Given the description of an element on the screen output the (x, y) to click on. 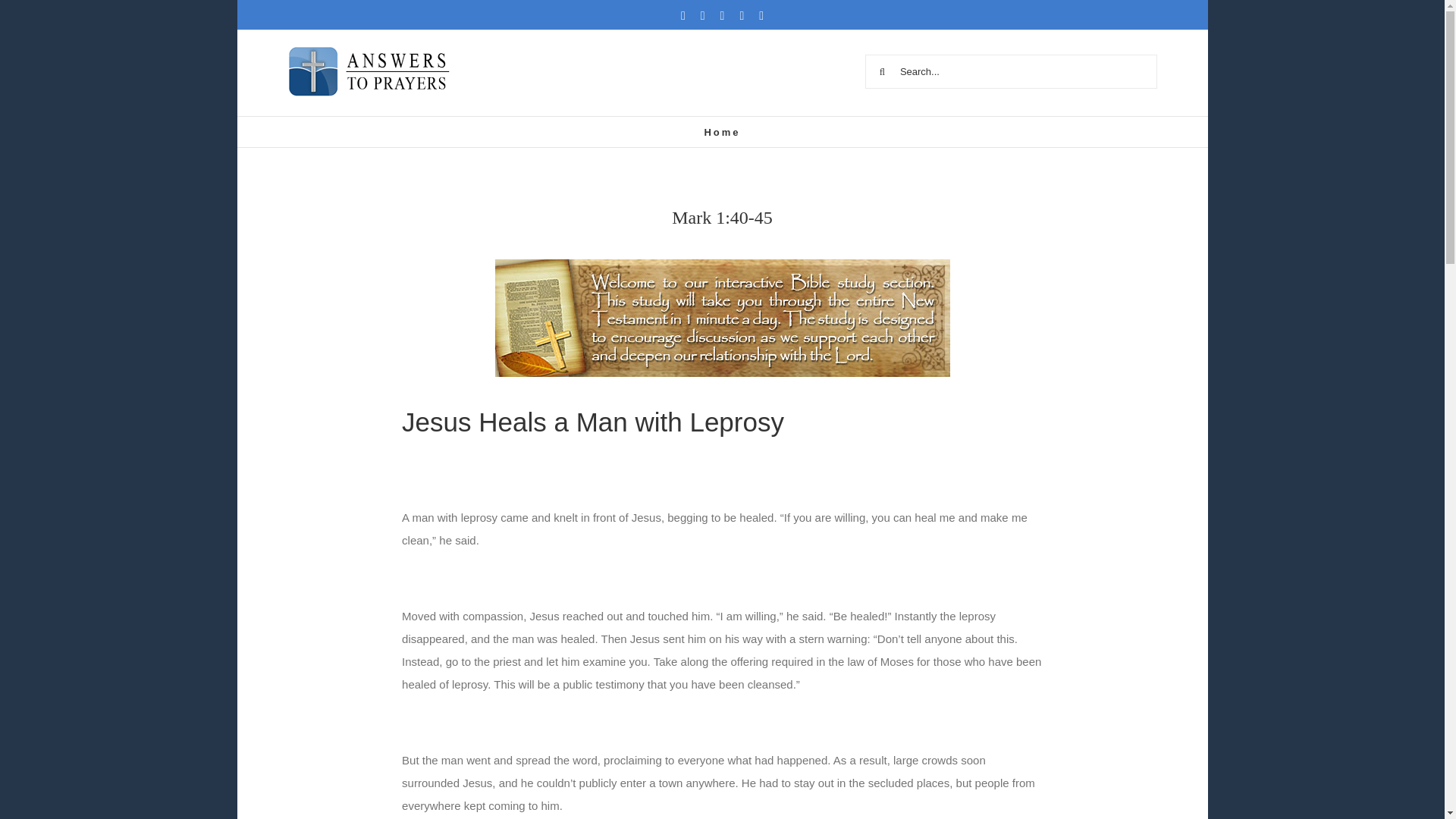
Home (721, 132)
interactive-bible-study (722, 317)
